Given the description of an element on the screen output the (x, y) to click on. 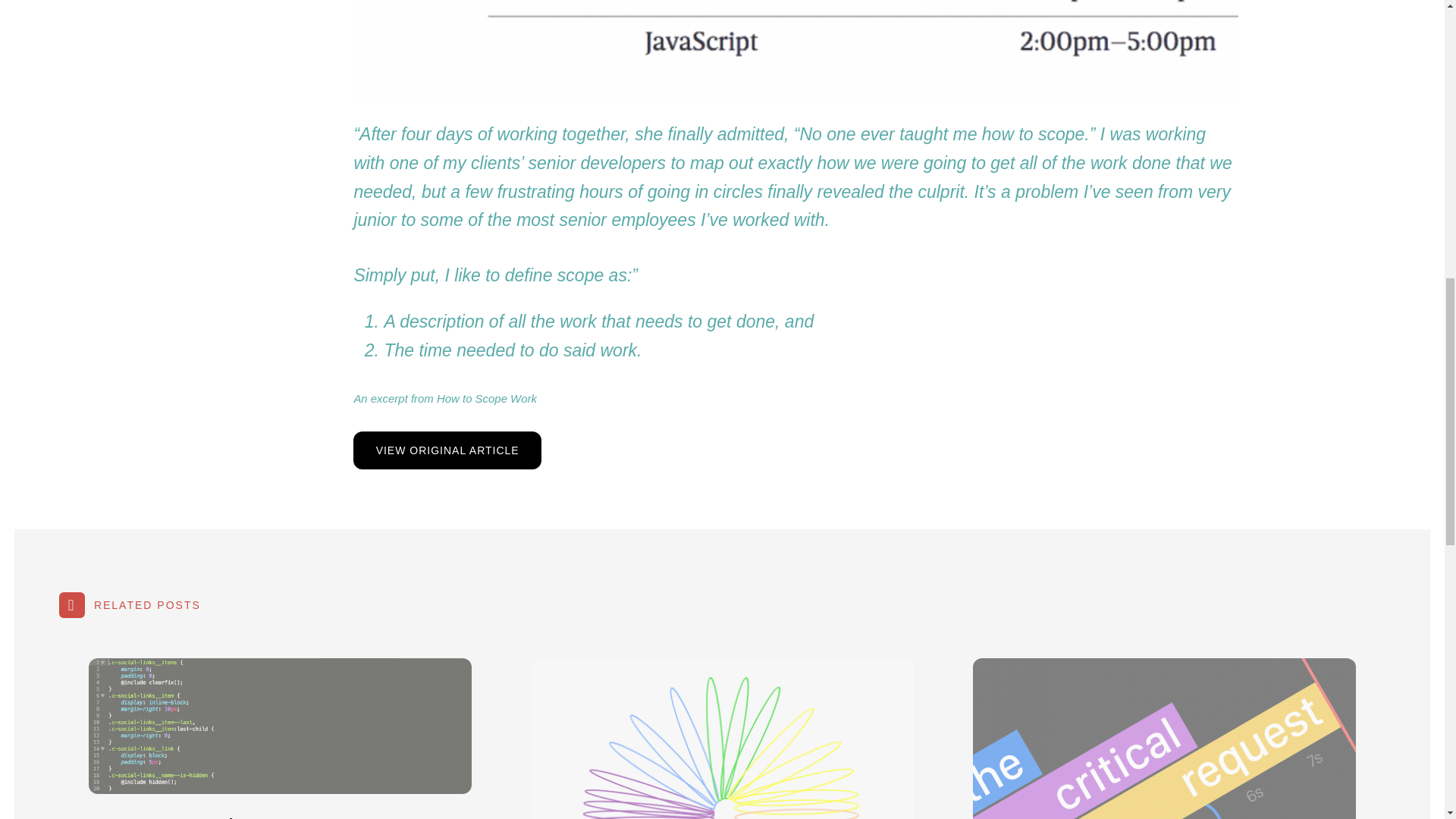
VIEW ORIGINAL ARTICLE (447, 450)
